Given the description of an element on the screen output the (x, y) to click on. 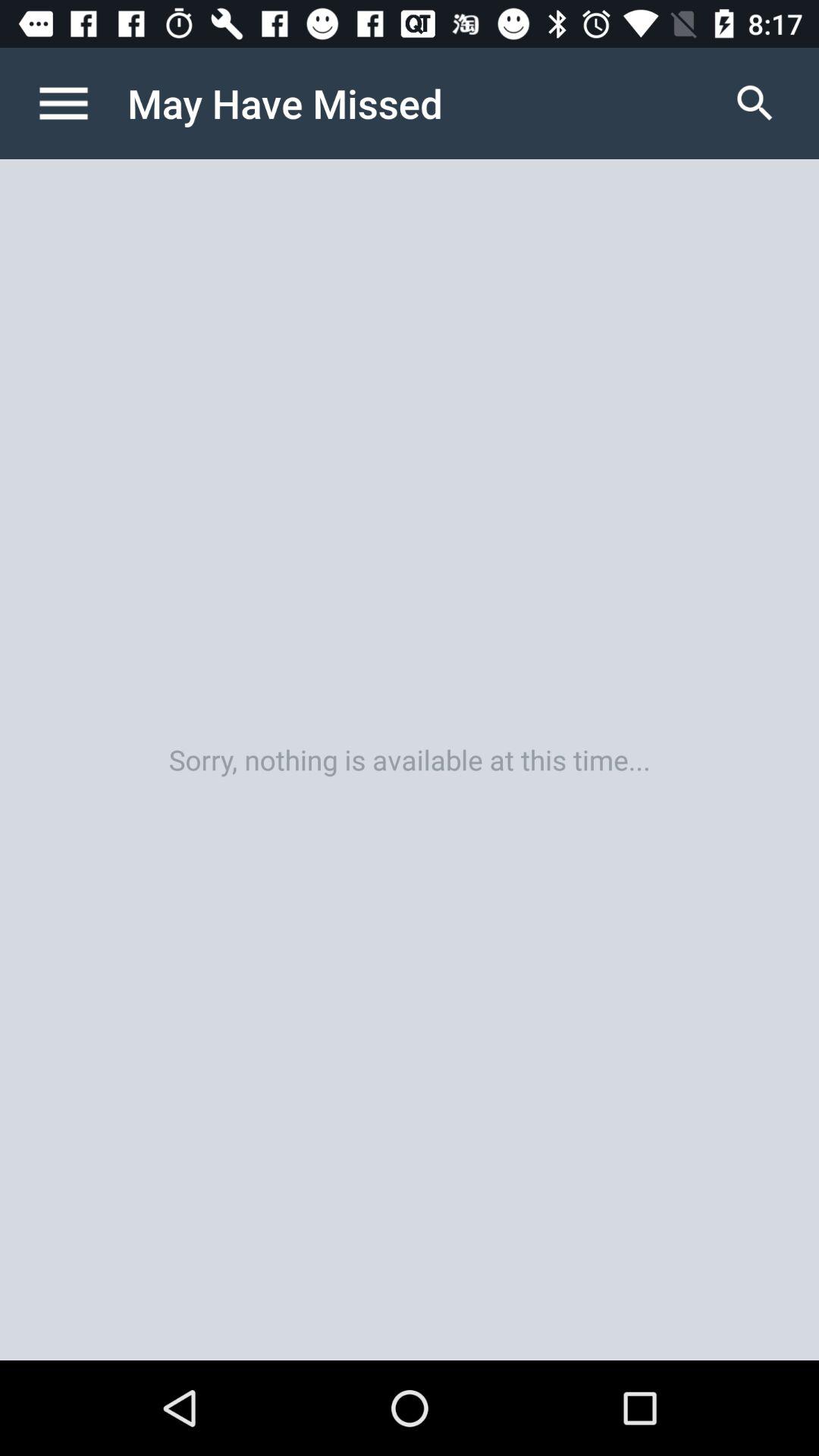
open item at the top left corner (79, 103)
